Given the description of an element on the screen output the (x, y) to click on. 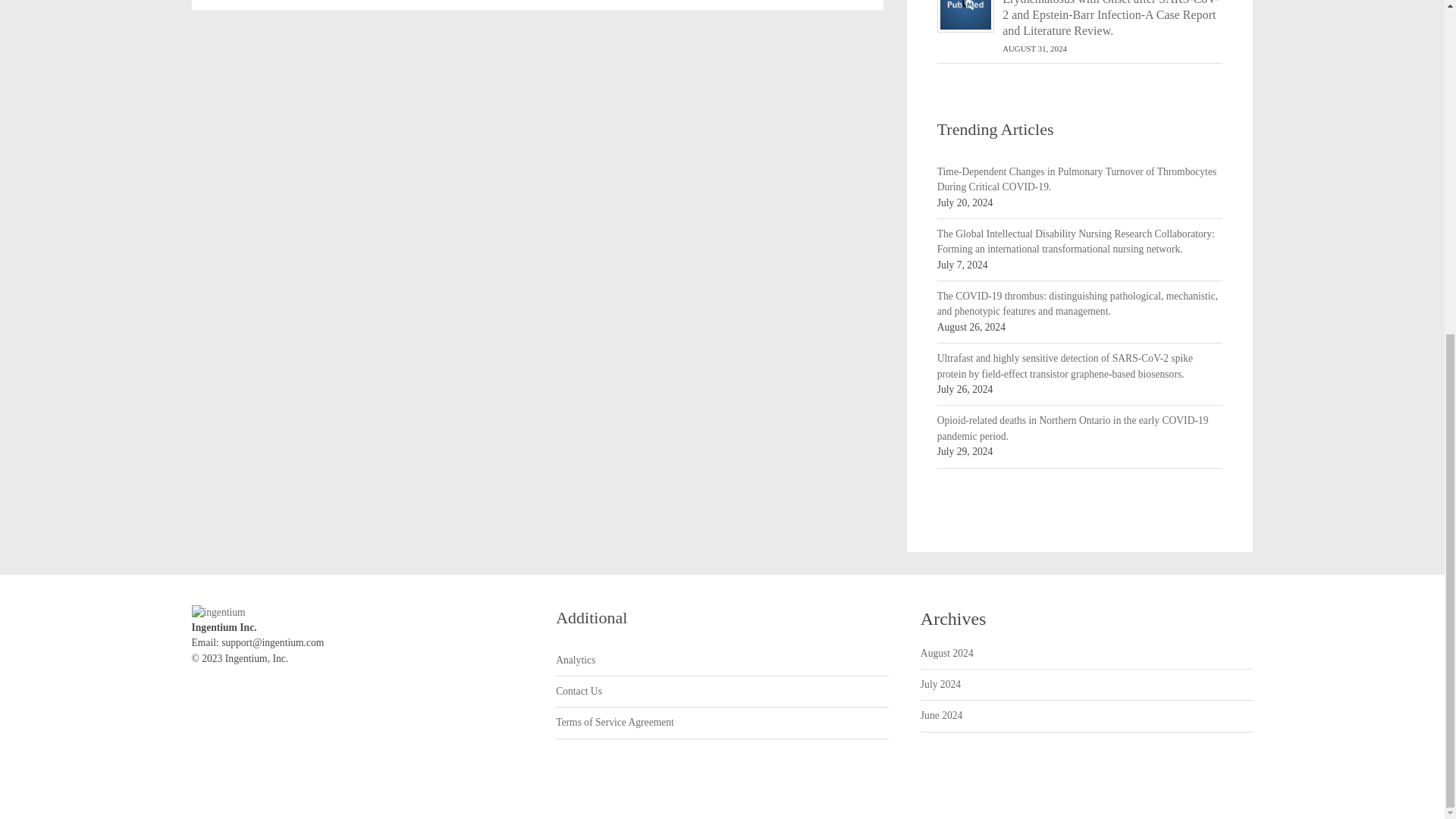
July 2024 (940, 684)
Contact Us (579, 691)
Terms of Service Agreement (615, 722)
August 2024 (947, 653)
